Given the description of an element on the screen output the (x, y) to click on. 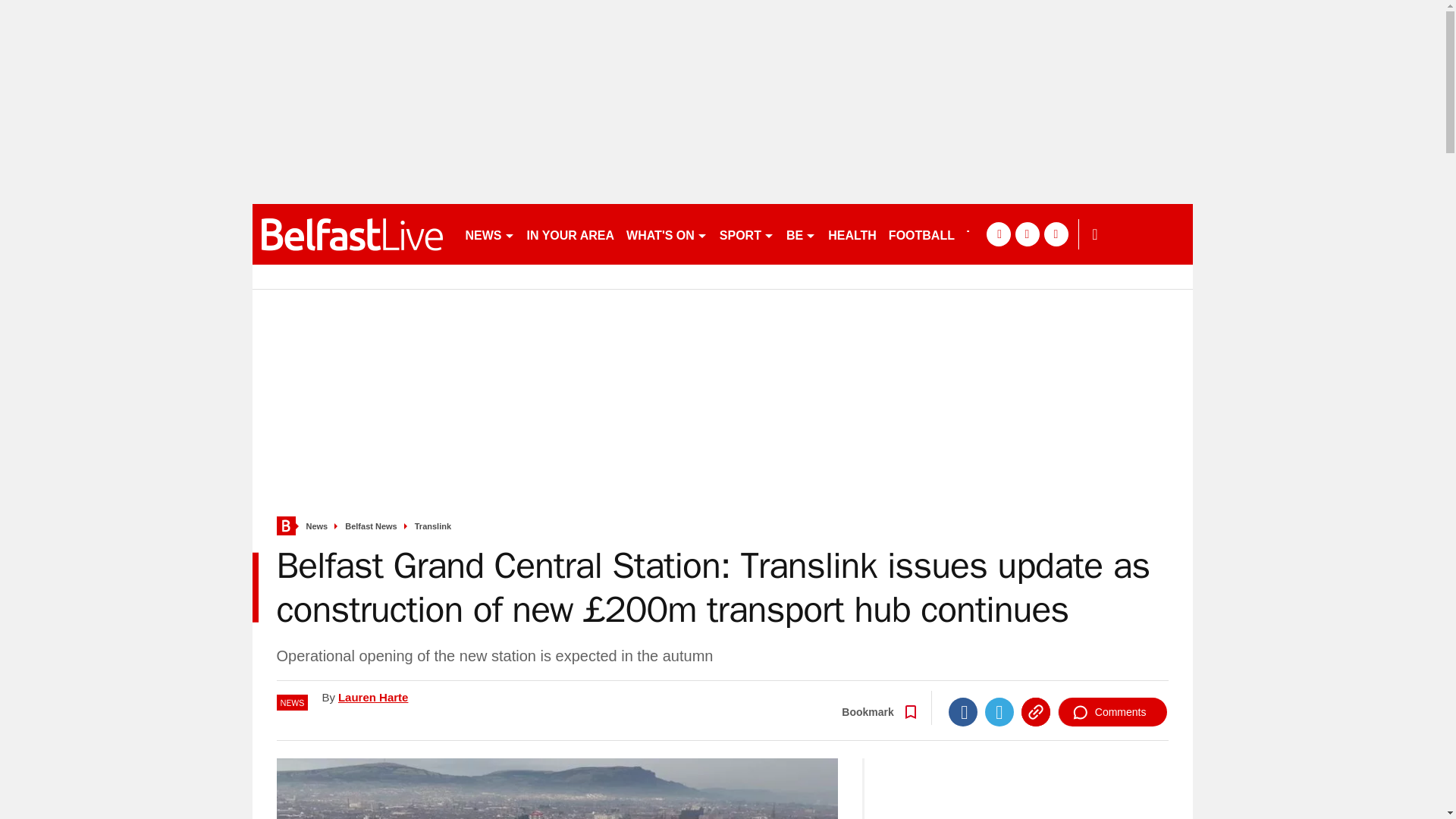
belfastlive (351, 233)
facebook (997, 233)
twitter (1026, 233)
Comments (1112, 711)
Twitter (999, 711)
SPORT (746, 233)
IN YOUR AREA (569, 233)
instagram (1055, 233)
Facebook (962, 711)
NEWS (490, 233)
